Given the description of an element on the screen output the (x, y) to click on. 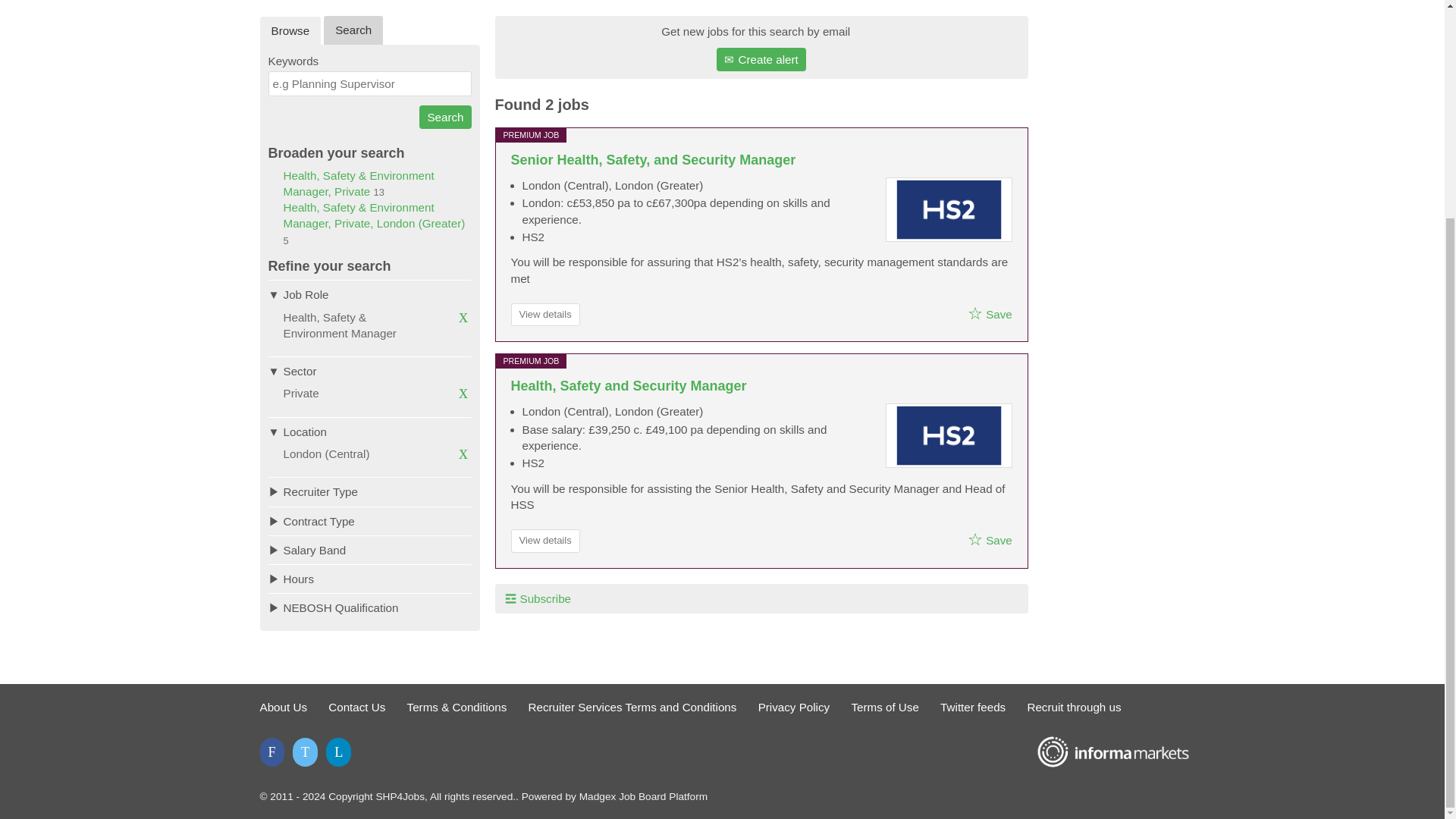
Add to shortlist (975, 538)
Browse (289, 30)
Job Role (369, 294)
Location (369, 430)
Contract Type (369, 520)
Salary Band (369, 549)
Recruiter Type (369, 491)
Sector (369, 370)
Search (352, 29)
Add to shortlist (975, 312)
Search (444, 116)
Search (444, 116)
